Given the description of an element on the screen output the (x, y) to click on. 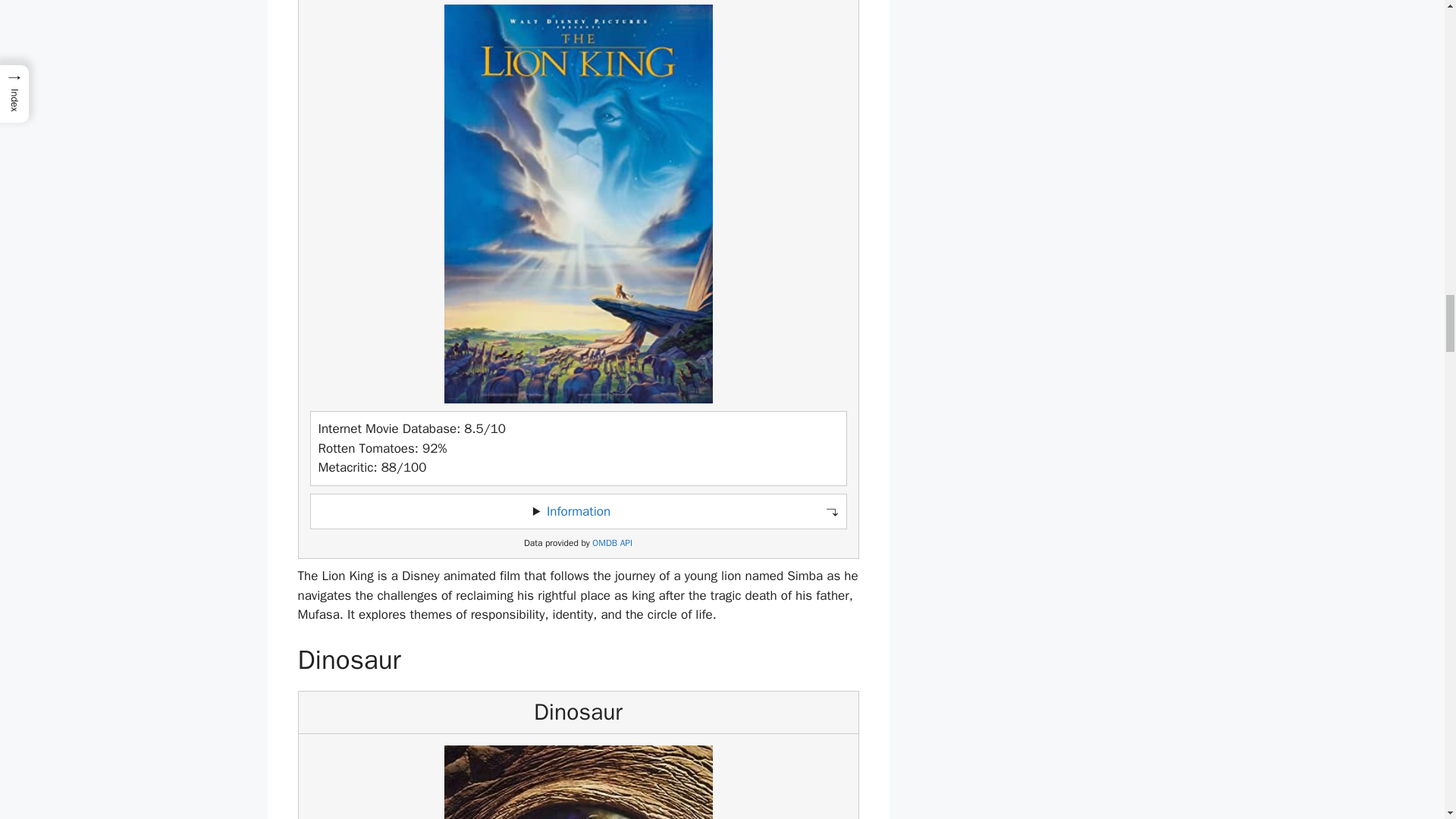
Information (578, 511)
Toggle information (578, 511)
OMDB API (611, 542)
Open Movie Database API (611, 542)
